Given the description of an element on the screen output the (x, y) to click on. 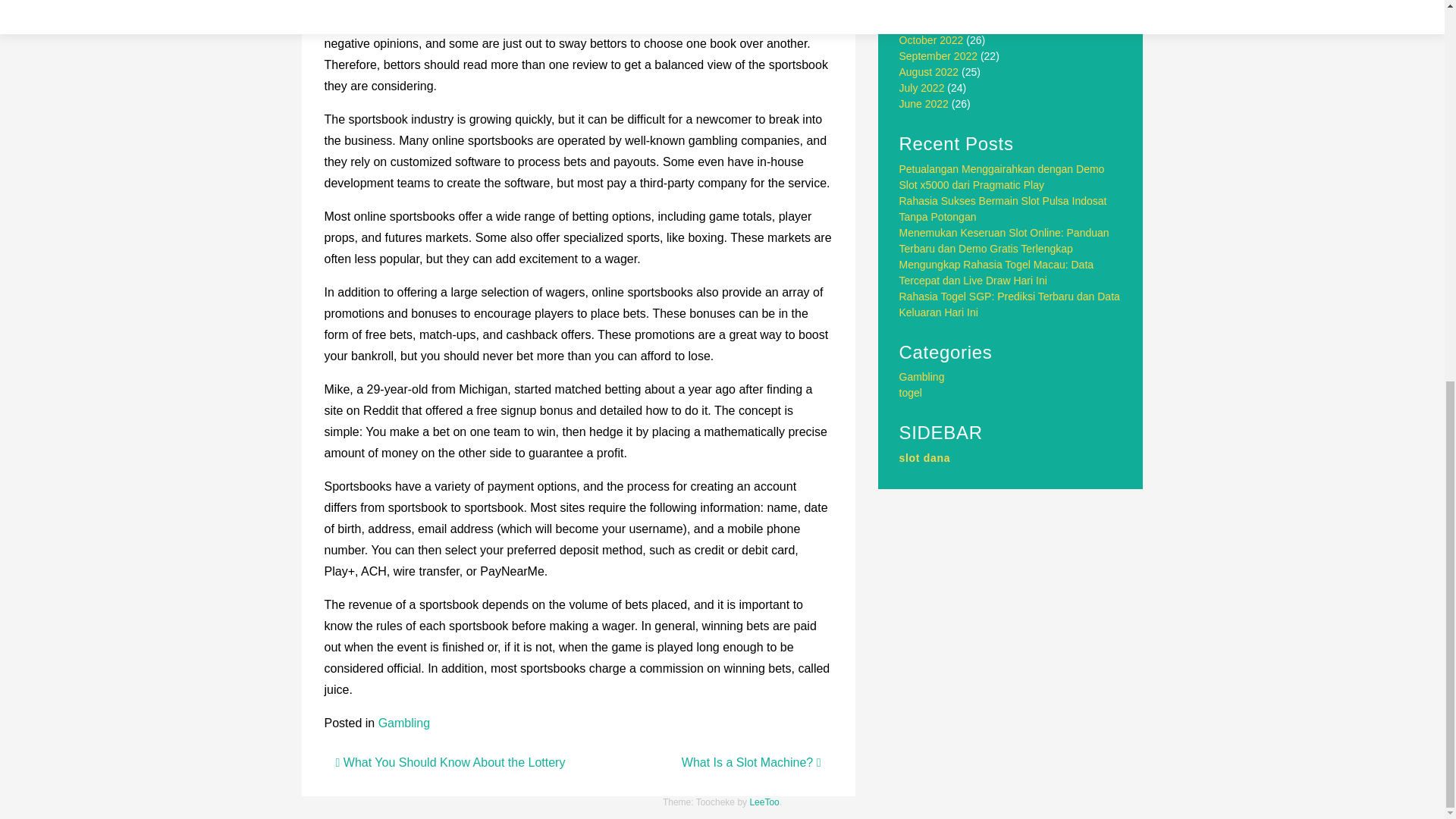
June 2022 (924, 103)
 What You Should Know About the Lottery (449, 762)
August 2022 (929, 71)
Gambling (921, 377)
Gambling (403, 722)
September 2022 (938, 55)
Rahasia Sukses Bermain Slot Pulsa Indosat Tanpa Potongan (1002, 208)
November 2022 (937, 24)
October 2022 (931, 39)
July 2022 (921, 87)
December 2022 (937, 8)
